Given the description of an element on the screen output the (x, y) to click on. 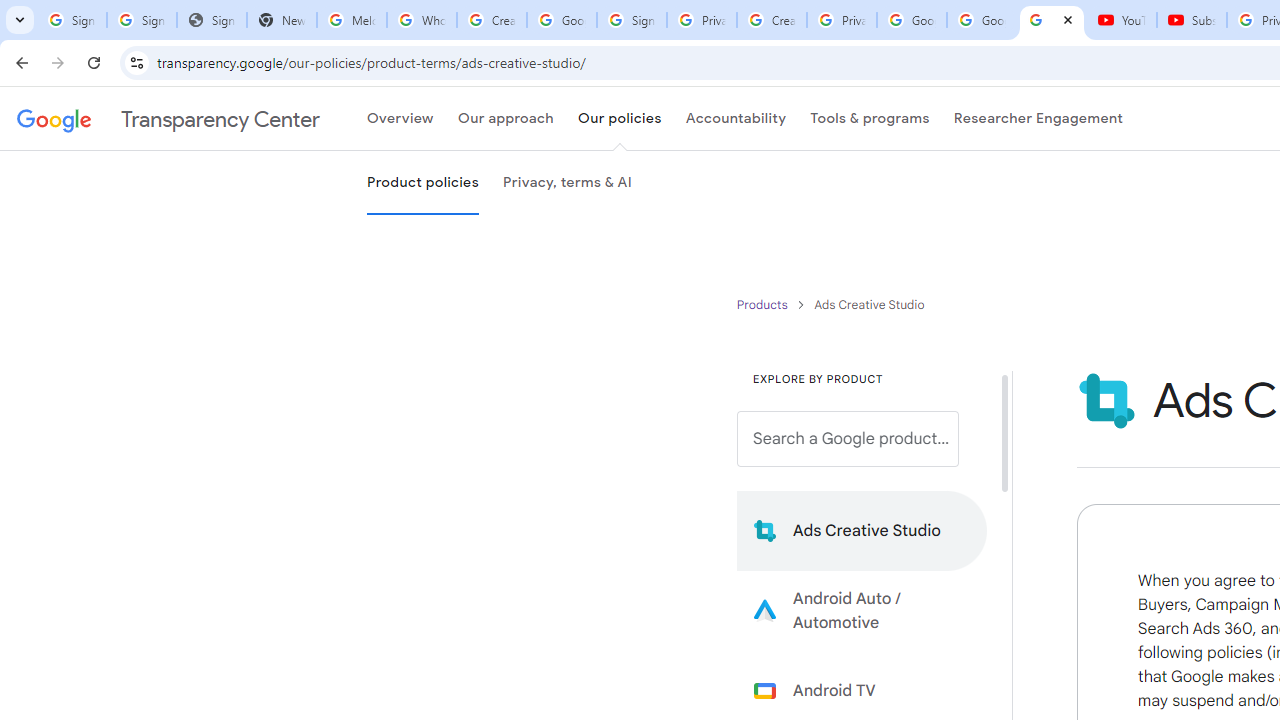
Subscriptions - YouTube (1192, 20)
Tools & programs (869, 119)
Our approach (505, 119)
Who is my administrator? - Google Account Help (421, 20)
Learn more about Android Auto (862, 610)
New Tab (282, 20)
Accountability (735, 119)
YouTube (1121, 20)
Researcher Engagement (1038, 119)
Sign in - Google Accounts (631, 20)
